Given the description of an element on the screen output the (x, y) to click on. 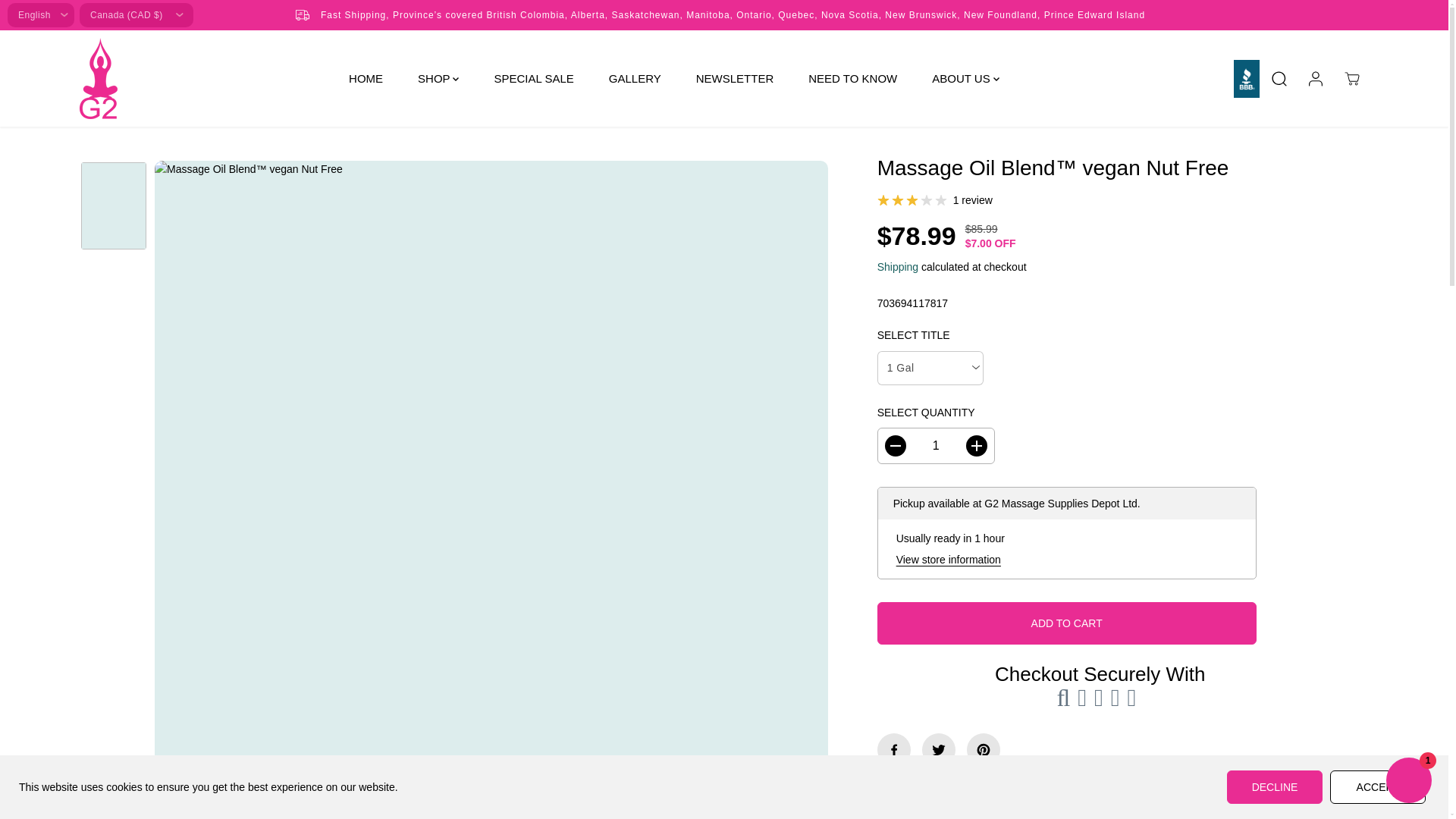
Log in (1315, 78)
Cart (1351, 78)
Facebook (894, 749)
SKIP TO CONTENT (60, 18)
Pinterest (983, 749)
1 (935, 445)
Twitter (938, 749)
Search (1278, 78)
